Given the description of an element on the screen output the (x, y) to click on. 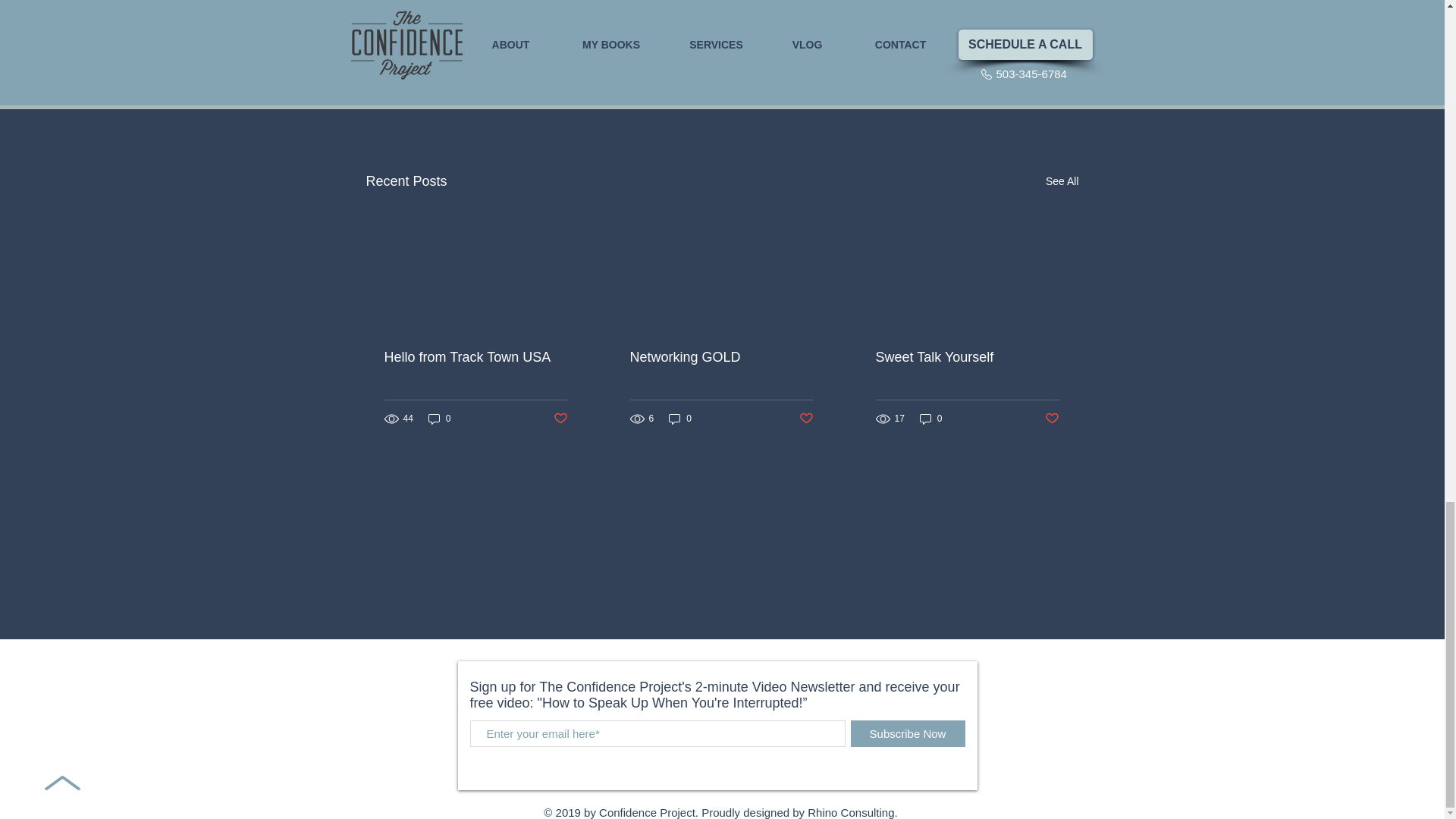
Networking GOLD (720, 357)
Post not marked as liked (560, 418)
Subscribe Now (907, 733)
0 (439, 418)
Hello from Track Town USA (475, 357)
Post not marked as liked (1052, 418)
Post not marked as liked (806, 418)
0 (679, 418)
See All (1061, 181)
0 (930, 418)
Post not marked as liked (995, 99)
Sweet Talk Yourself (966, 357)
